Given the description of an element on the screen output the (x, y) to click on. 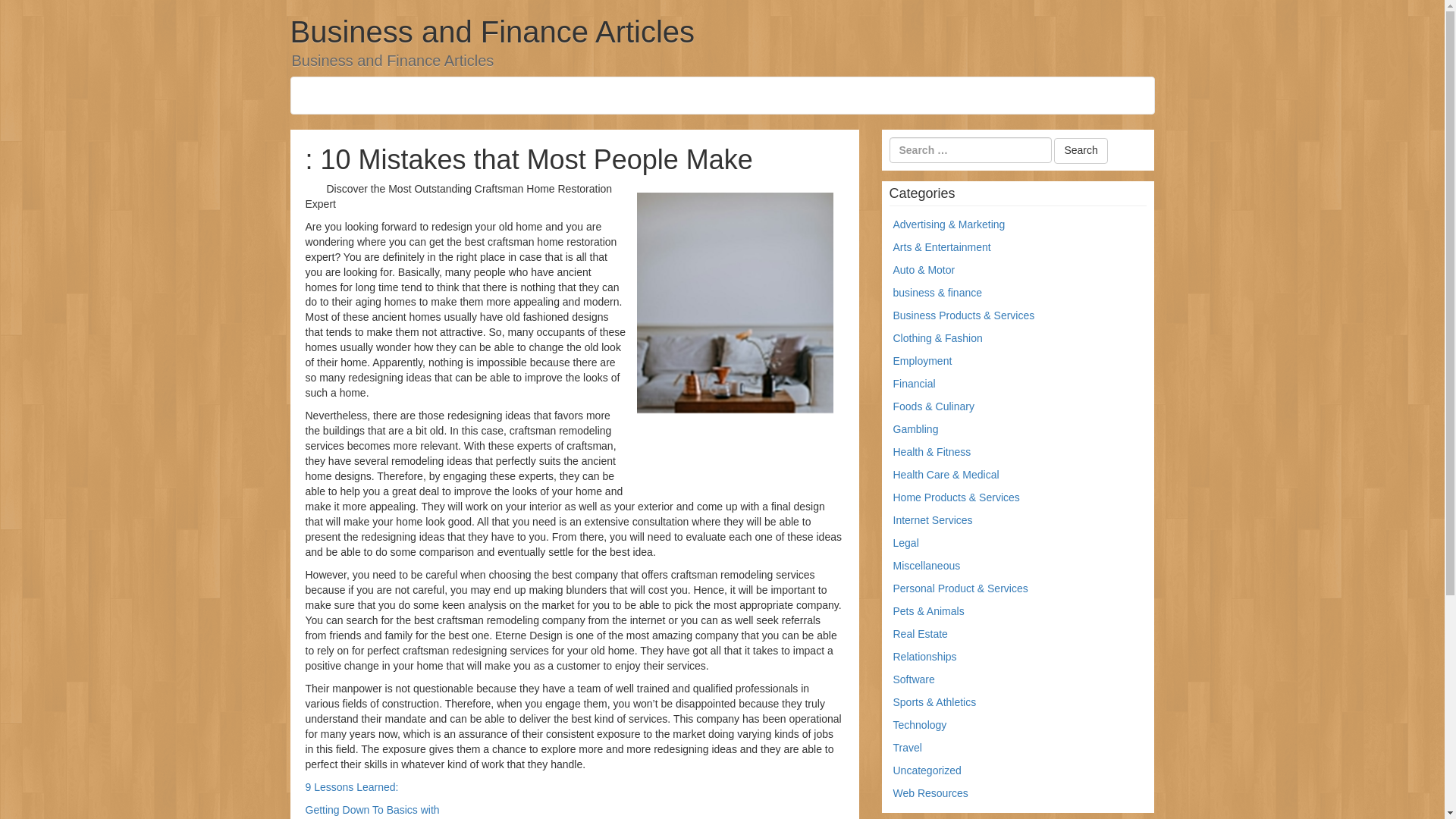
Technology (920, 725)
Business and Finance Articles (491, 31)
Search for: (969, 149)
Search (1080, 150)
Gambling (916, 428)
Legal (905, 542)
Travel (907, 747)
Employment (922, 360)
Internet Services (932, 520)
Search (1080, 150)
